Given the description of an element on the screen output the (x, y) to click on. 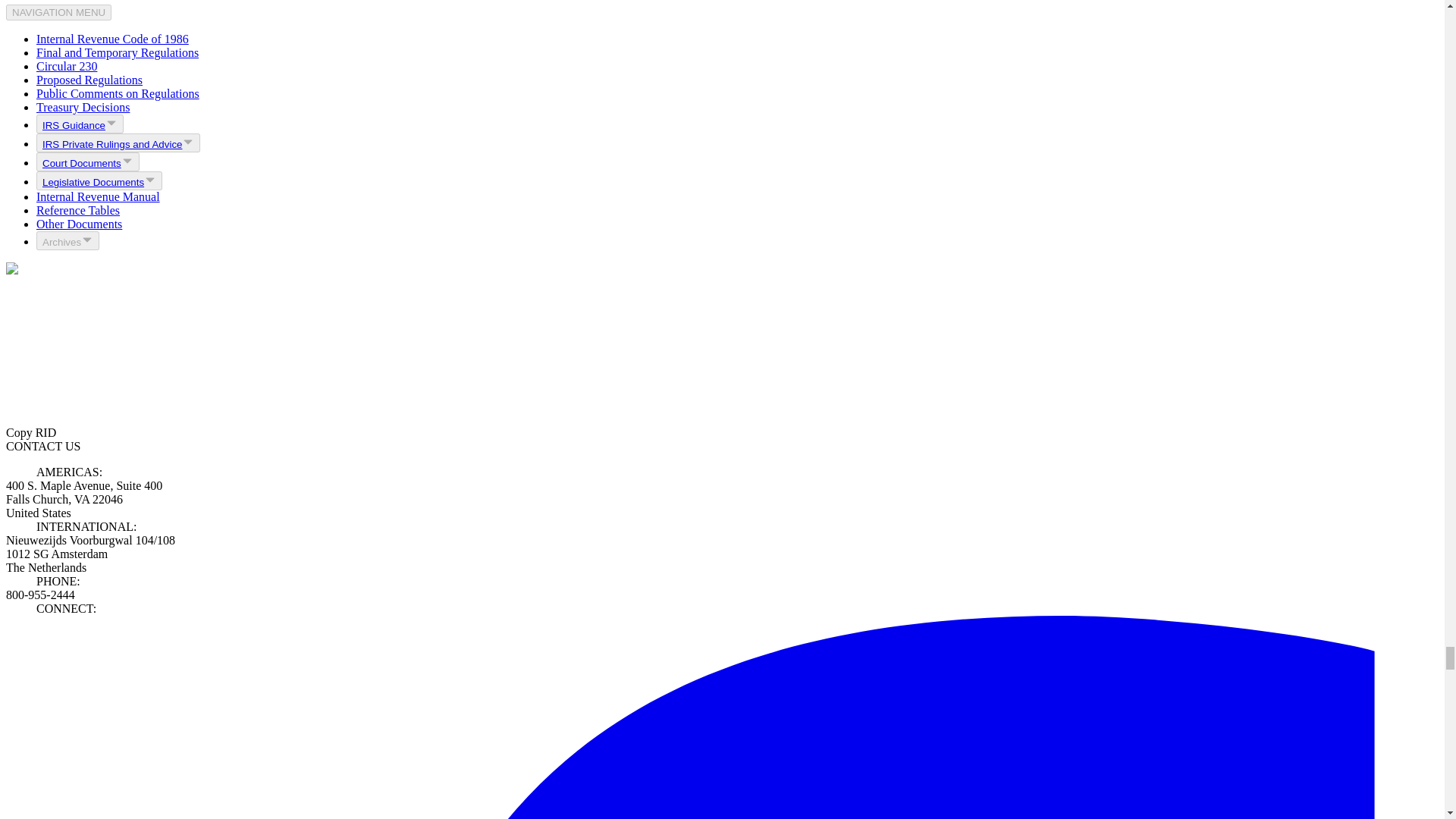
IRS Guidance (79, 123)
Expand (98, 180)
Expand (118, 142)
NAVIGATION MENU (58, 12)
Circular 230 (66, 65)
Proposed Regulations (89, 79)
Final and Temporary Regulations (117, 51)
IRS Private Rulings and Advice (112, 143)
Expand (79, 123)
Treasury Decisions (82, 106)
